Given the description of an element on the screen output the (x, y) to click on. 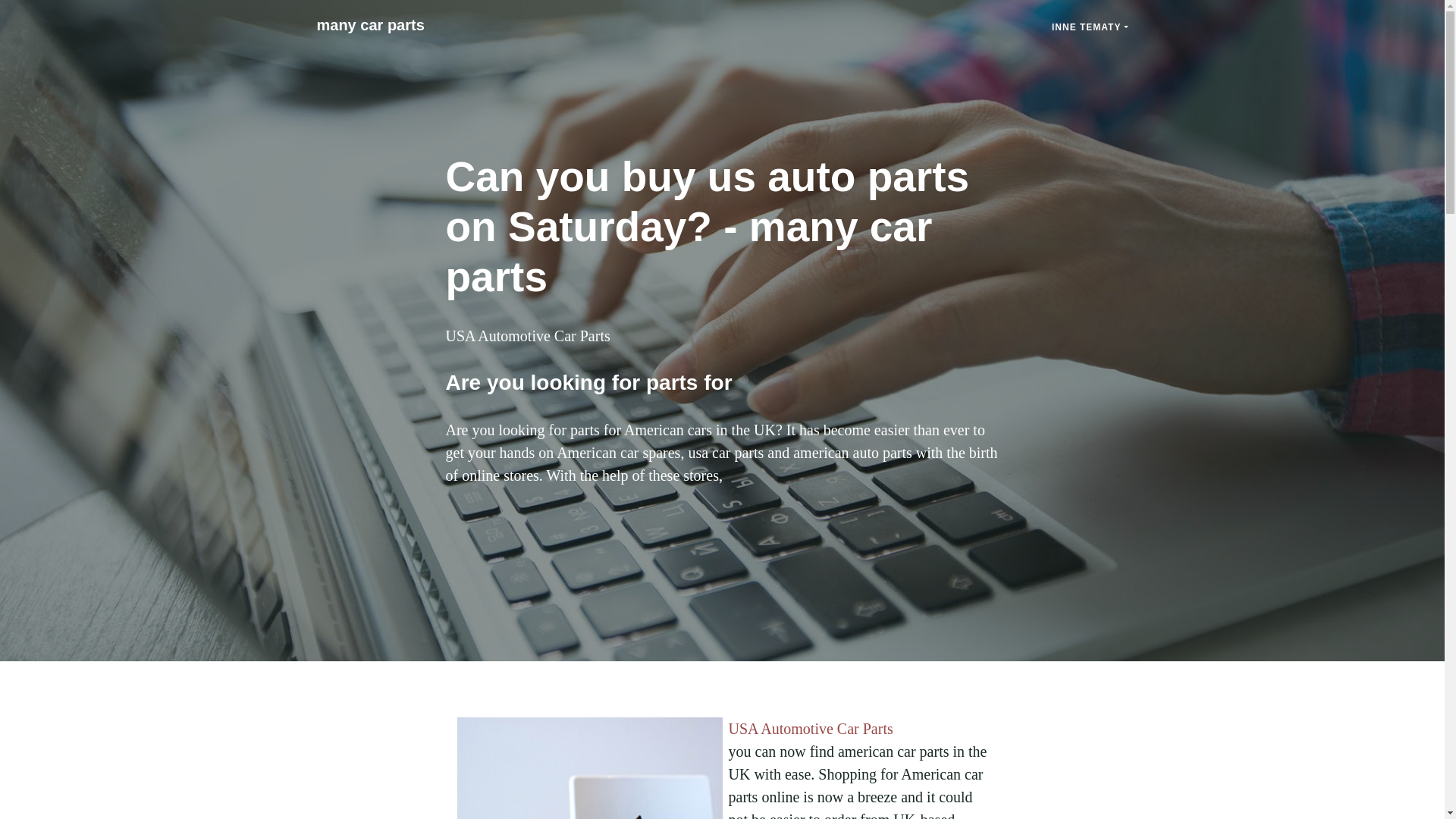
many car parts (370, 24)
 Can you buy us auto parts on Saturday?  - many car parts (370, 24)
INNE TEMATY (1089, 27)
